Given the description of an element on the screen output the (x, y) to click on. 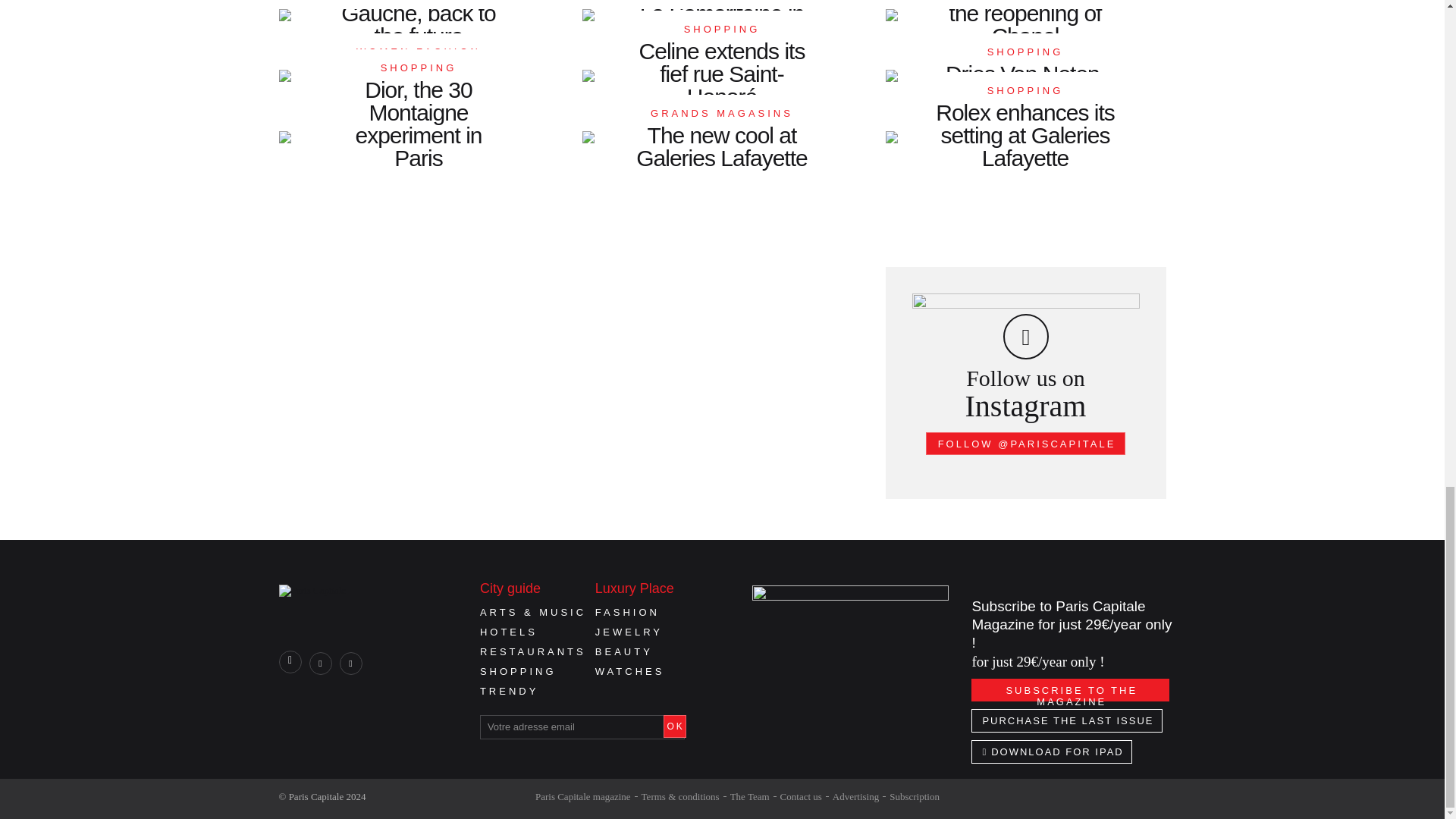
Ultimate chic for the reopening of Chanel (1025, 29)
La Samaritaine in odors of holiness (721, 29)
